Given the description of an element on the screen output the (x, y) to click on. 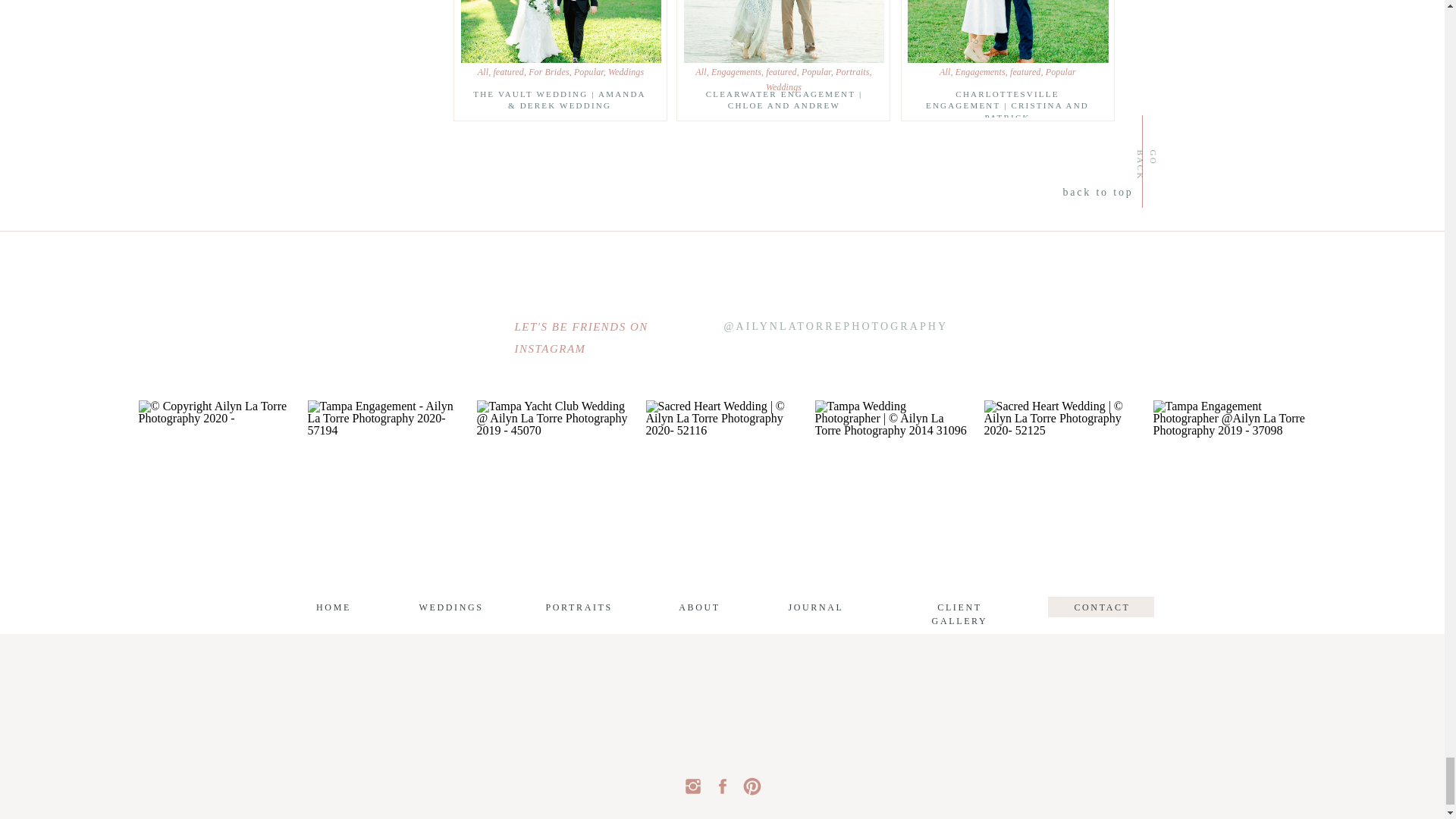
All (482, 71)
